Given the description of an element on the screen output the (x, y) to click on. 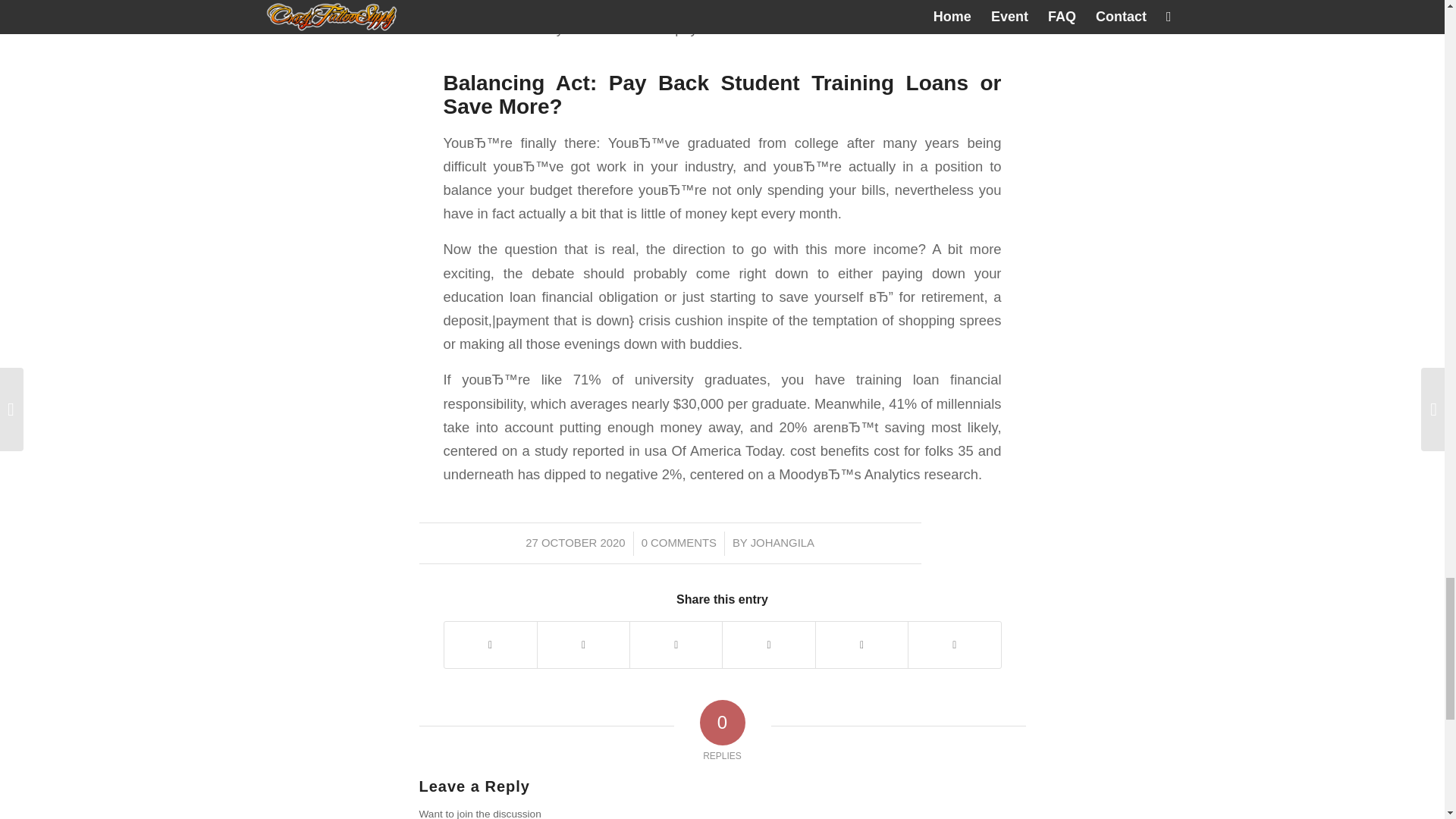
0 COMMENTS (679, 542)
Posts by johangila (782, 542)
JOHANGILA (782, 542)
